Given the description of an element on the screen output the (x, y) to click on. 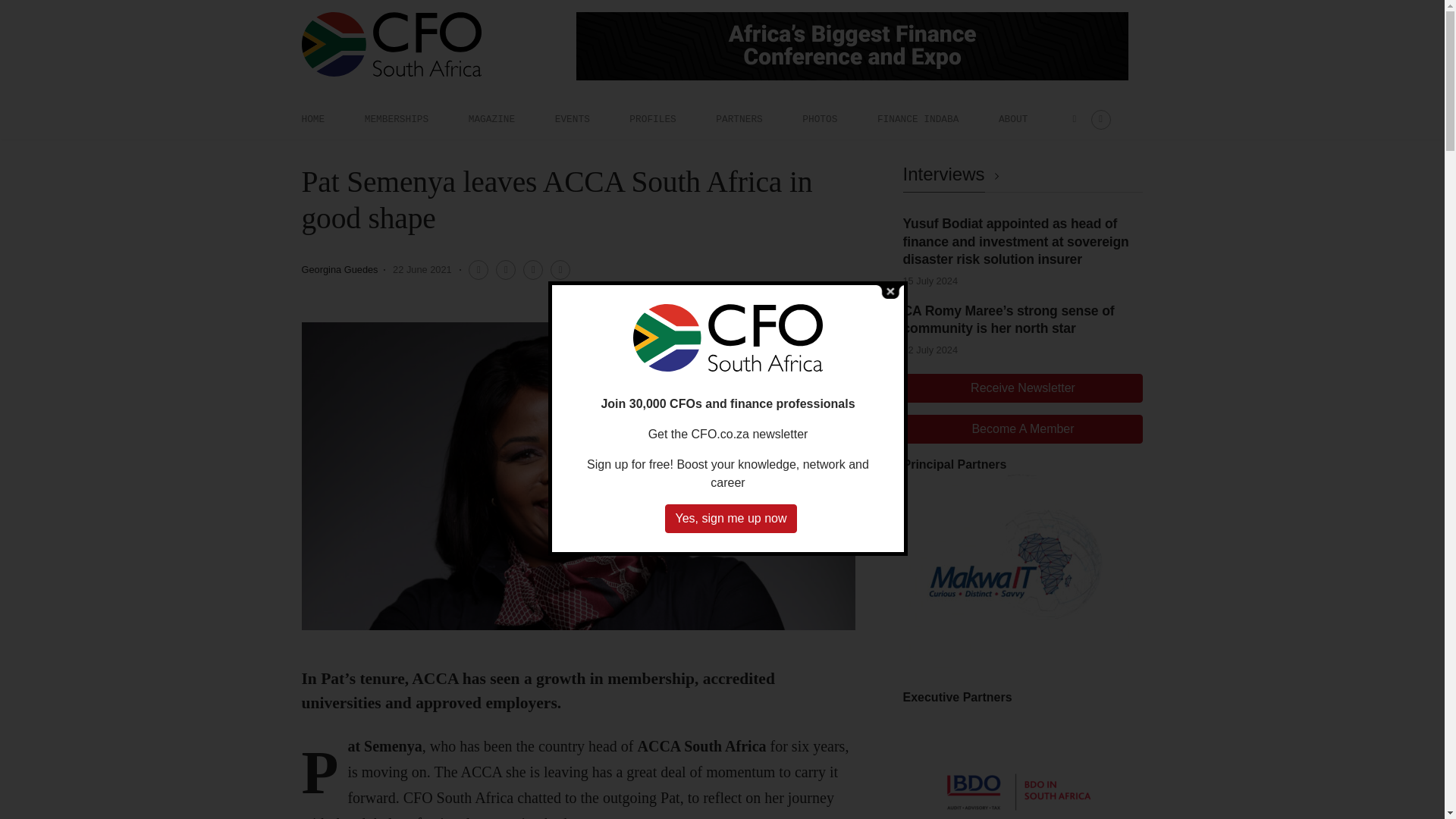
EVENTS (571, 119)
Georgina Guedes (339, 269)
HOME (312, 119)
MEMBERSHIPS (396, 119)
Become A Member (1022, 428)
PHOTOS (819, 119)
FINANCE INDABA (918, 119)
Receive Newsletter (1022, 387)
ABOUT (1012, 119)
MAGAZINE (491, 119)
PROFILES (651, 119)
Interviews (953, 173)
Close (890, 290)
PARTNERS (738, 119)
